Given the description of an element on the screen output the (x, y) to click on. 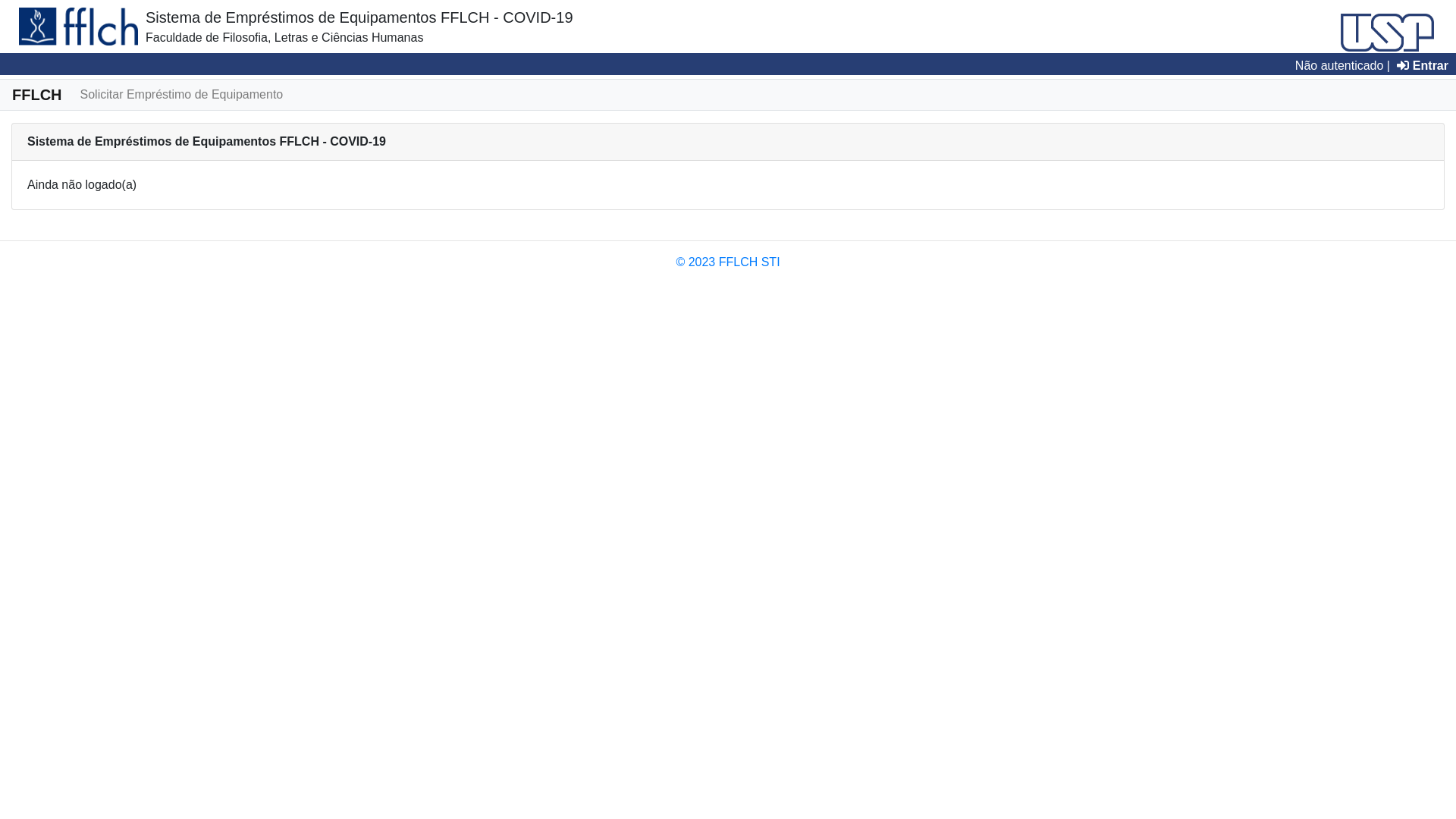
FFLCH Element type: text (37, 94)
